Given the description of an element on the screen output the (x, y) to click on. 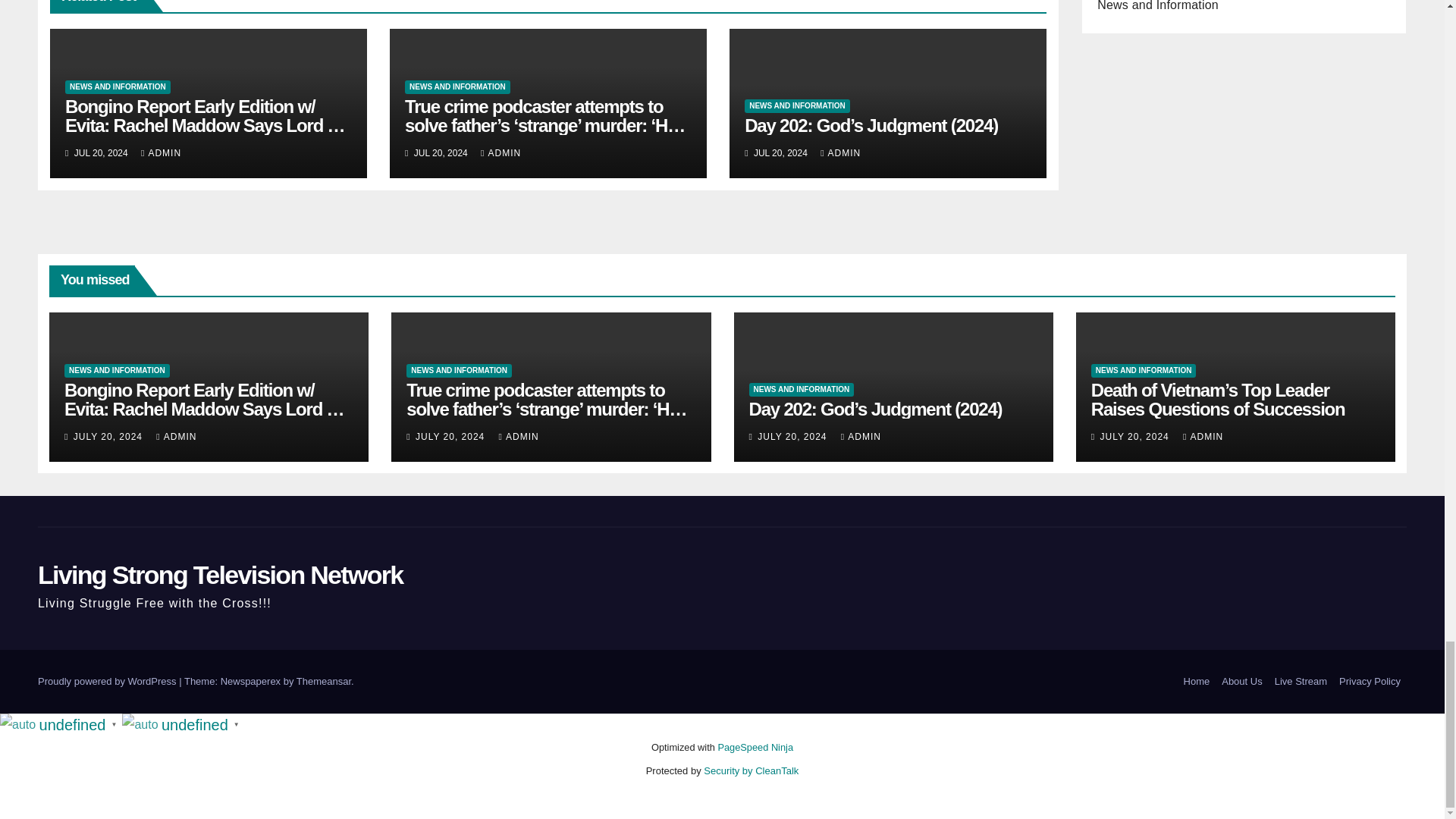
Home (1196, 681)
NEWS AND INFORMATION (117, 87)
ADMIN (160, 153)
